Given the description of an element on the screen output the (x, y) to click on. 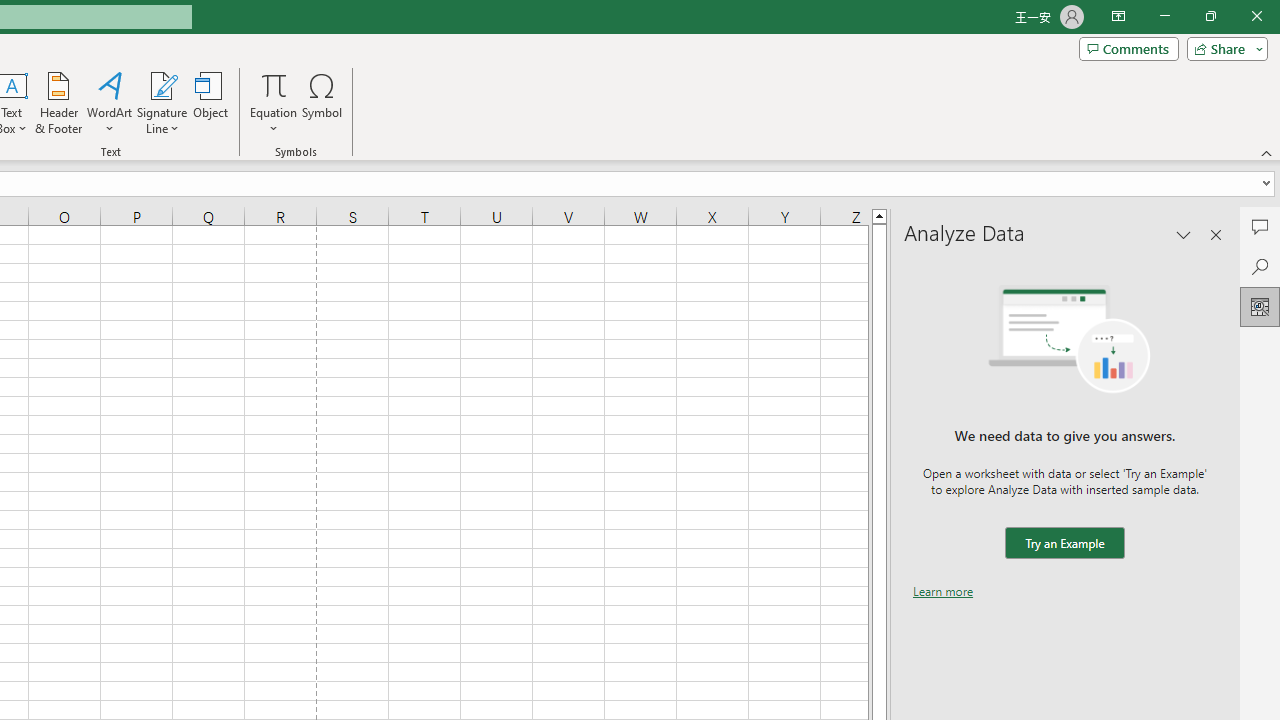
Close (1256, 16)
Learn more (943, 591)
Equation (273, 102)
Header & Footer... (58, 102)
Analyze Data (1260, 306)
Task Pane Options (1183, 234)
Ribbon Display Options (1118, 16)
Close pane (1215, 234)
Minimize (1164, 16)
Line up (879, 215)
